Given the description of an element on the screen output the (x, y) to click on. 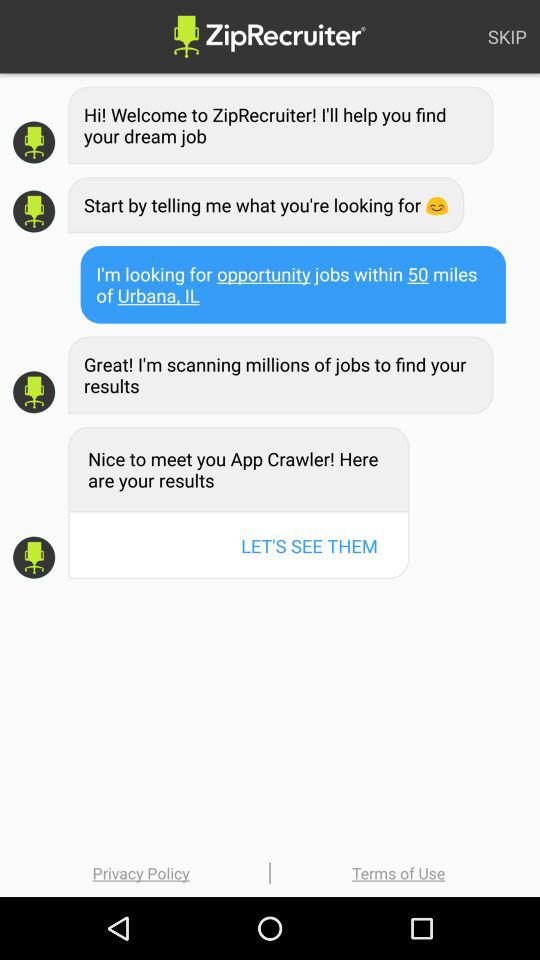
swipe to the let s see icon (309, 545)
